Given the description of an element on the screen output the (x, y) to click on. 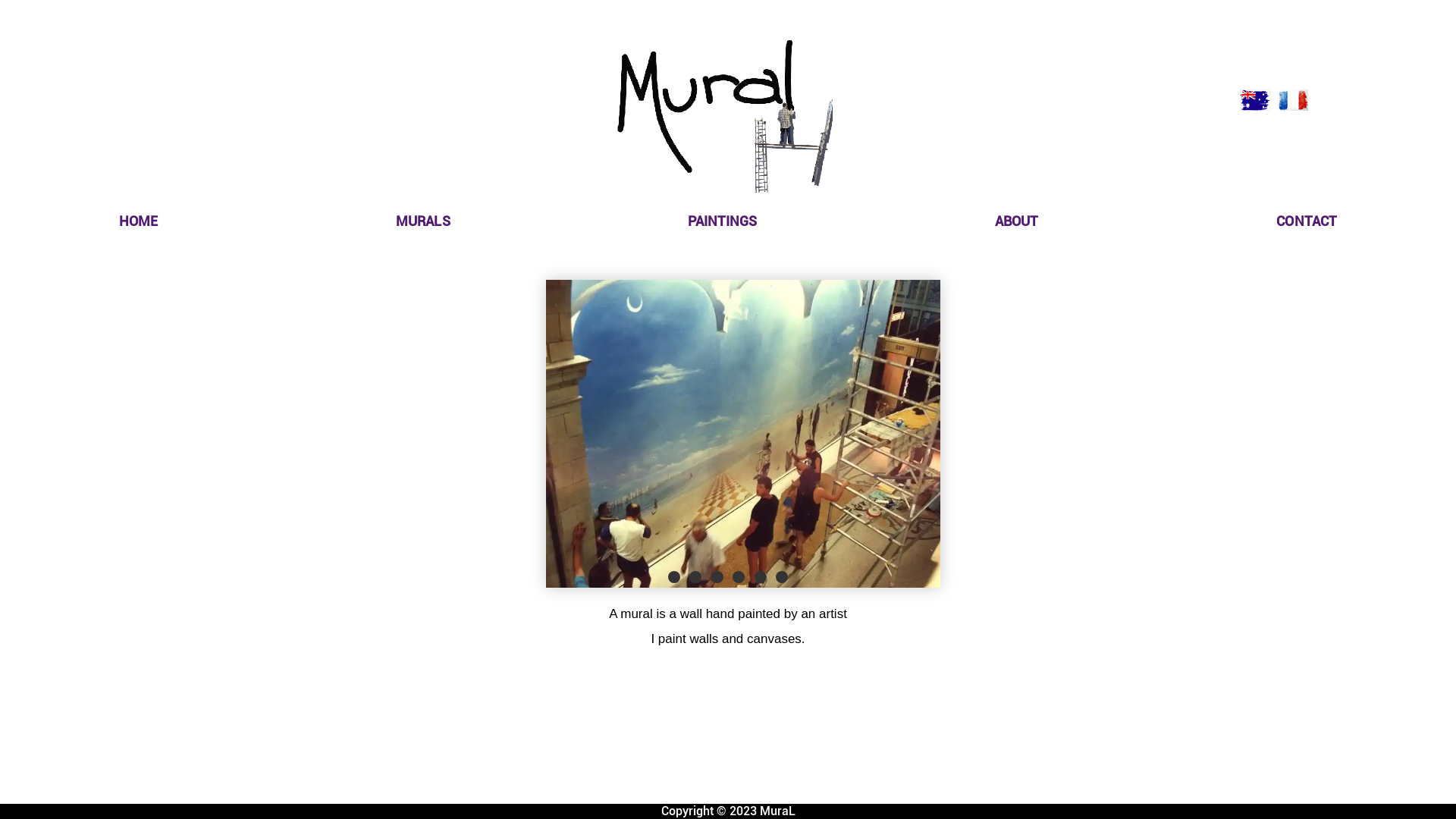
english Element type: hover (1254, 100)
Go to slide 1 Element type: text (674, 576)
MURALS Element type: text (422, 221)
PAINTINGS Element type: text (721, 221)
HOME Element type: text (138, 221)
Go to slide 4 Element type: text (738, 576)
Go to slide 6 Element type: text (781, 576)
french Element type: hover (1292, 100)
Go to slide 3 Element type: text (717, 576)
ABOUT Element type: text (1016, 221)
CONTACT Element type: text (1306, 221)
Go to slide 5 Element type: text (760, 576)
Go to slide 2 Element type: text (695, 576)
